Given the description of an element on the screen output the (x, y) to click on. 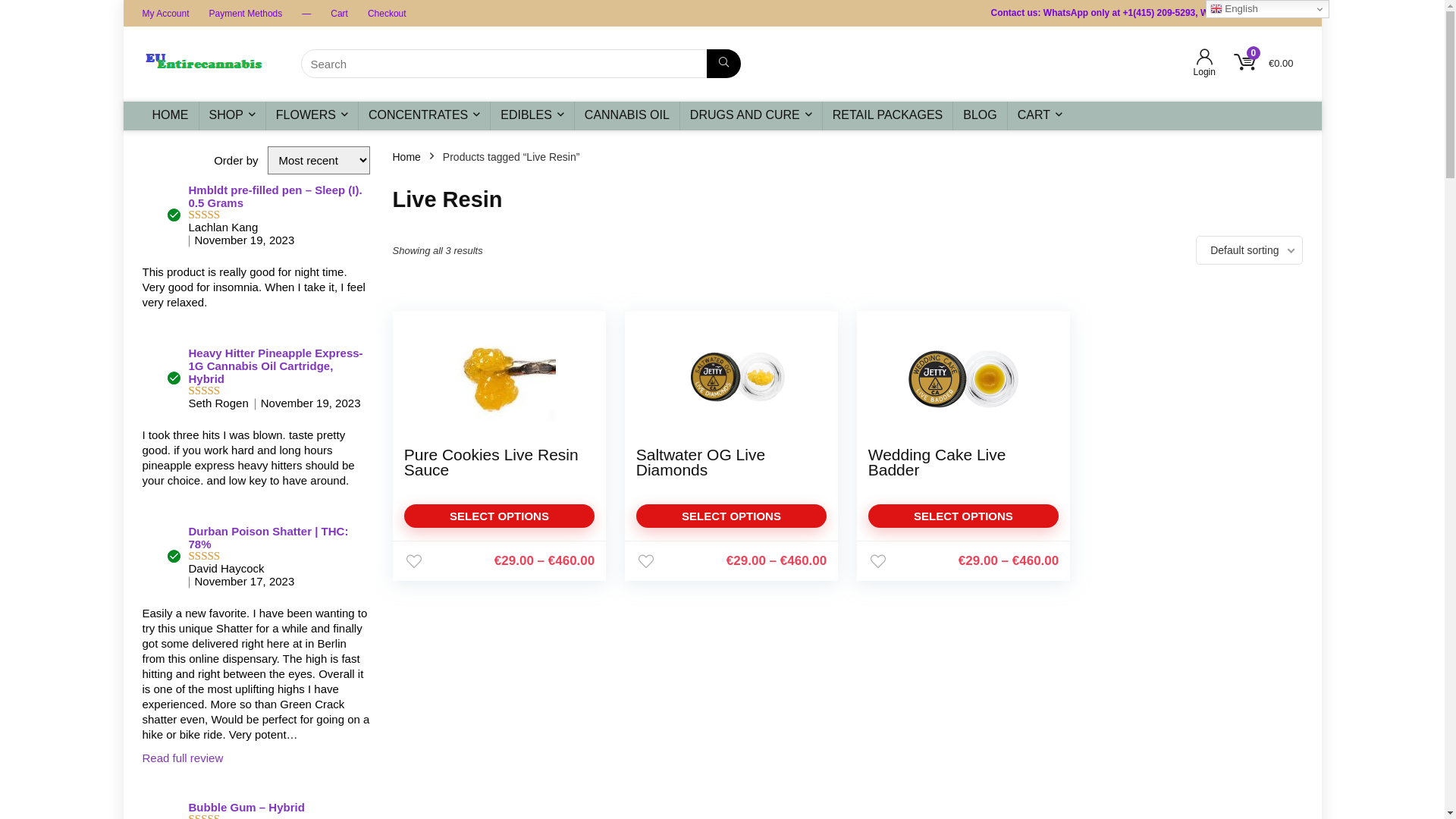
Read full review Element type: text (182, 757)
Home Element type: text (406, 156)
RETAIL PACKAGES Element type: text (887, 115)
Wedding Cake Live Badder Element type: text (937, 461)
BLOG Element type: text (979, 115)
Checkout Element type: text (386, 12)
SELECT OPTIONS Element type: text (963, 515)
Payment Methods Element type: text (245, 12)
English Element type: text (1267, 9)
Saltwater OG Live Diamonds Element type: text (700, 461)
HOME Element type: text (170, 115)
CANNABIS OIL Element type: text (626, 115)
DRUGS AND CURE Element type: text (751, 115)
EDIBLES Element type: text (532, 115)
FLOWERS Element type: text (311, 115)
SHOP Element type: text (231, 115)
SELECT OPTIONS Element type: text (499, 515)
CART Element type: text (1039, 115)
CONCENTRATES Element type: text (423, 115)
My Account Element type: text (165, 12)
Cart Element type: text (339, 12)
Durban Poison Shatter | THC: 78% Element type: text (268, 537)
Pure Cookies Live Resin Sauce Element type: text (491, 461)
SELECT OPTIONS Element type: text (731, 515)
